Given the description of an element on the screen output the (x, y) to click on. 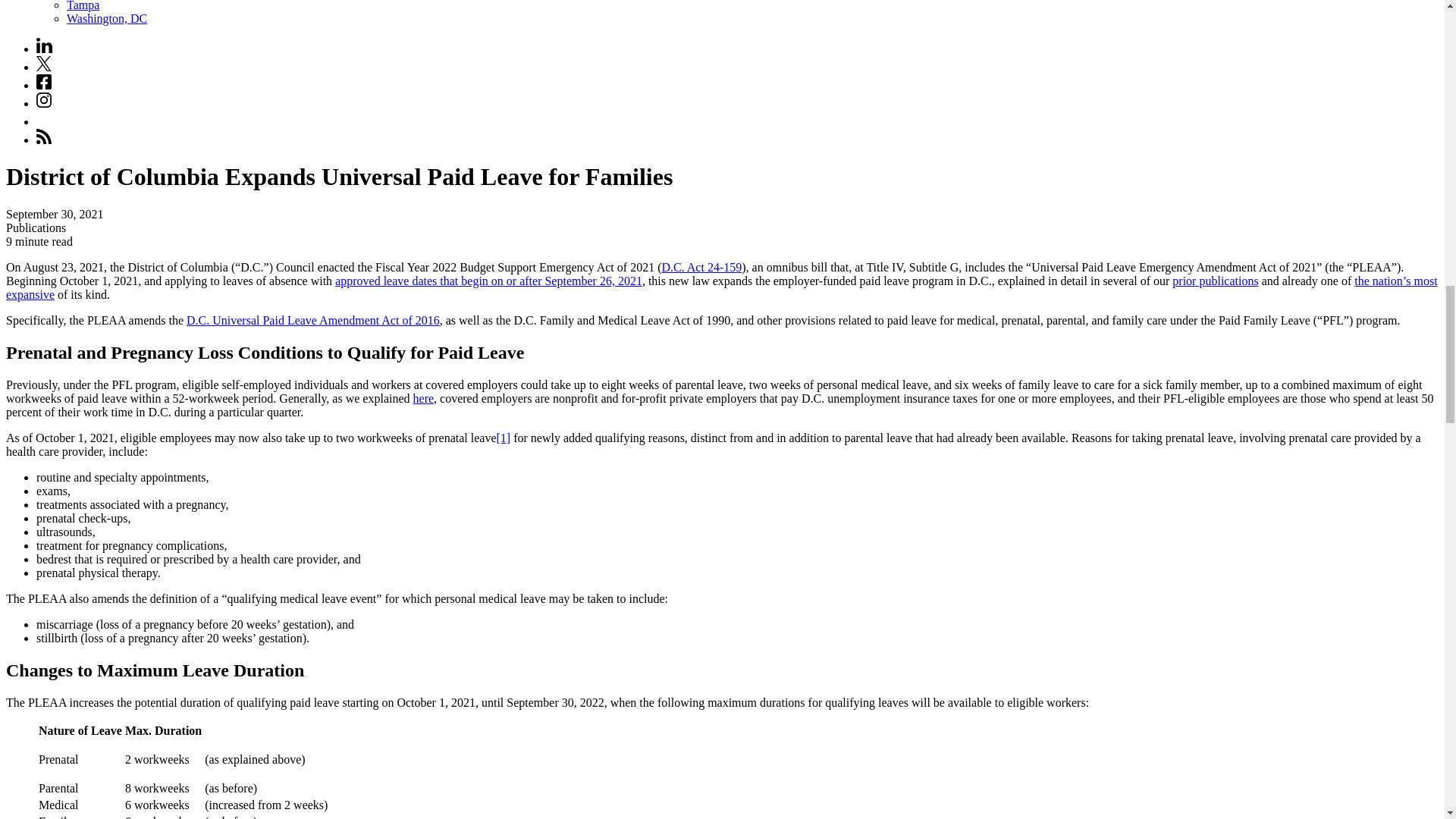
Youtube (43, 118)
Linkedin (44, 45)
Facebook (43, 81)
Twitter (43, 66)
Linkedin (44, 48)
Youtube (43, 121)
Instagram (44, 99)
Facebook (43, 84)
RSS (43, 136)
Twitter (43, 63)
Instagram (44, 103)
